Given the description of an element on the screen output the (x, y) to click on. 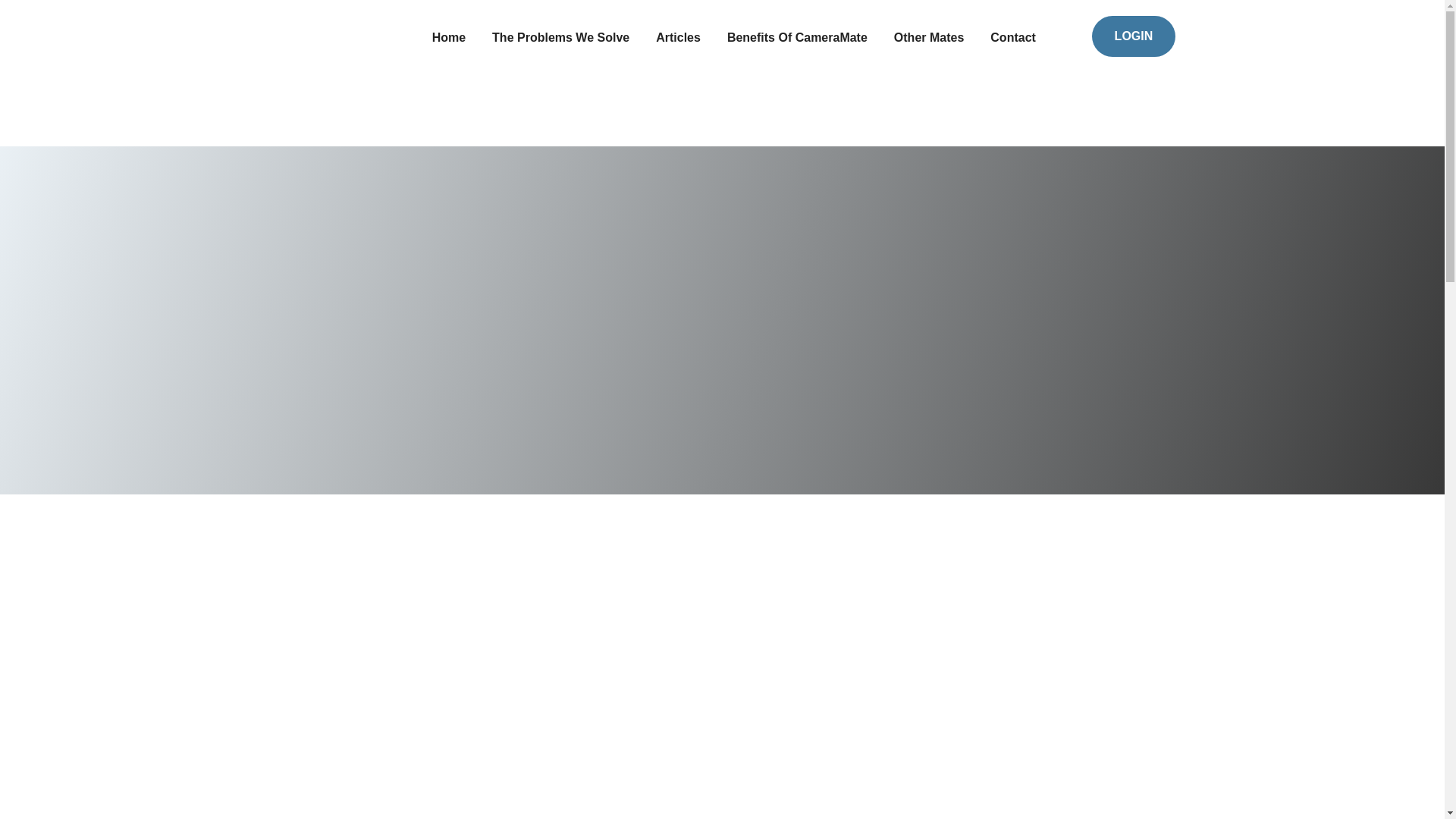
Other Mates (928, 37)
Articles (678, 37)
Benefits Of CameraMate (796, 37)
Home (448, 37)
The Problems We Solve (560, 37)
Contact (1012, 37)
